Given the description of an element on the screen output the (x, y) to click on. 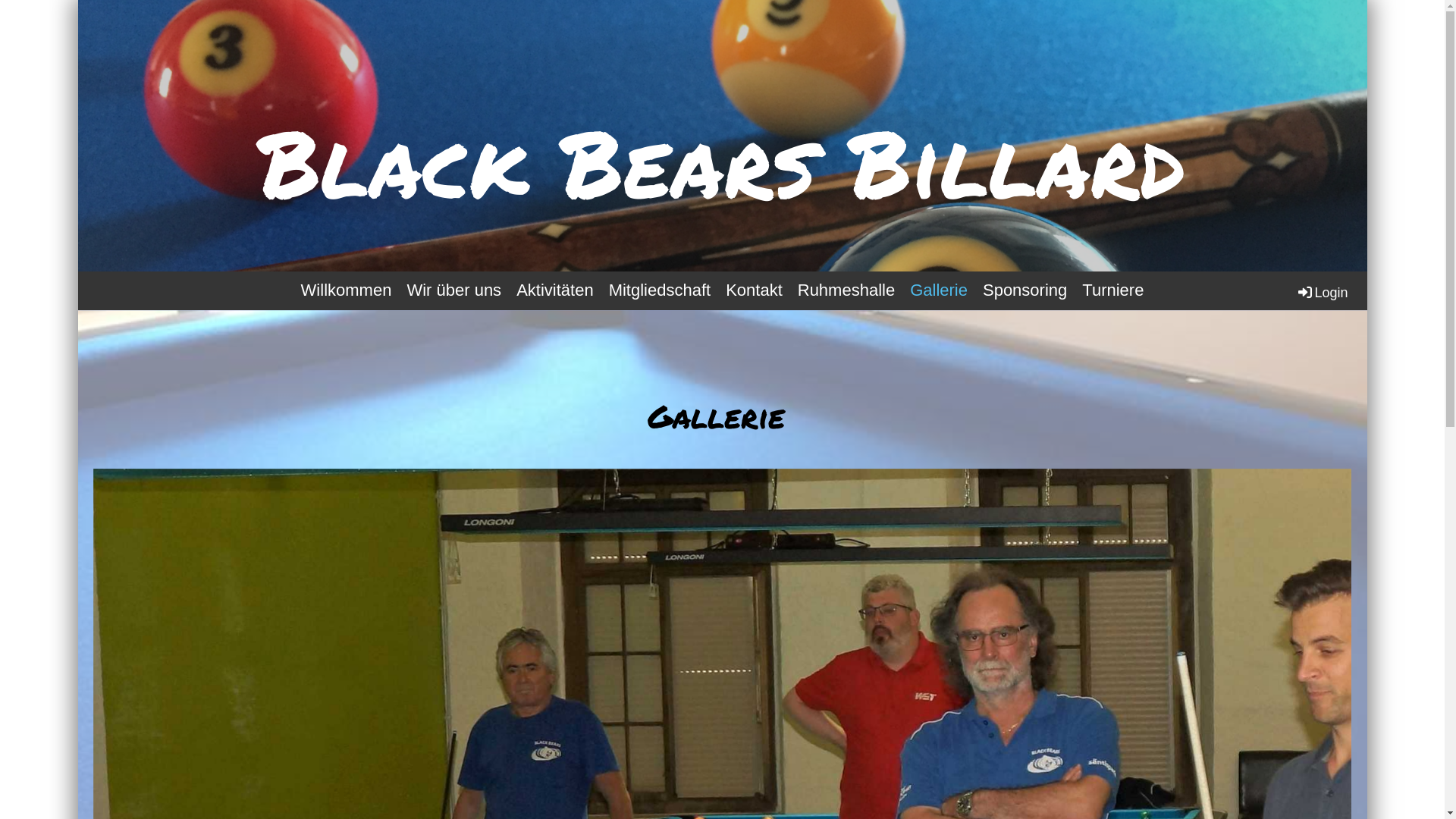
Mitgliedschaft Element type: text (659, 290)
Sponsoring Element type: text (1024, 290)
Kontakt Element type: text (754, 290)
Gallerie Element type: text (938, 290)
Ruhmeshalle Element type: text (846, 290)
Login Element type: text (1321, 292)
Willkommen Element type: text (346, 290)
Turniere Element type: text (1112, 290)
